Given the description of an element on the screen output the (x, y) to click on. 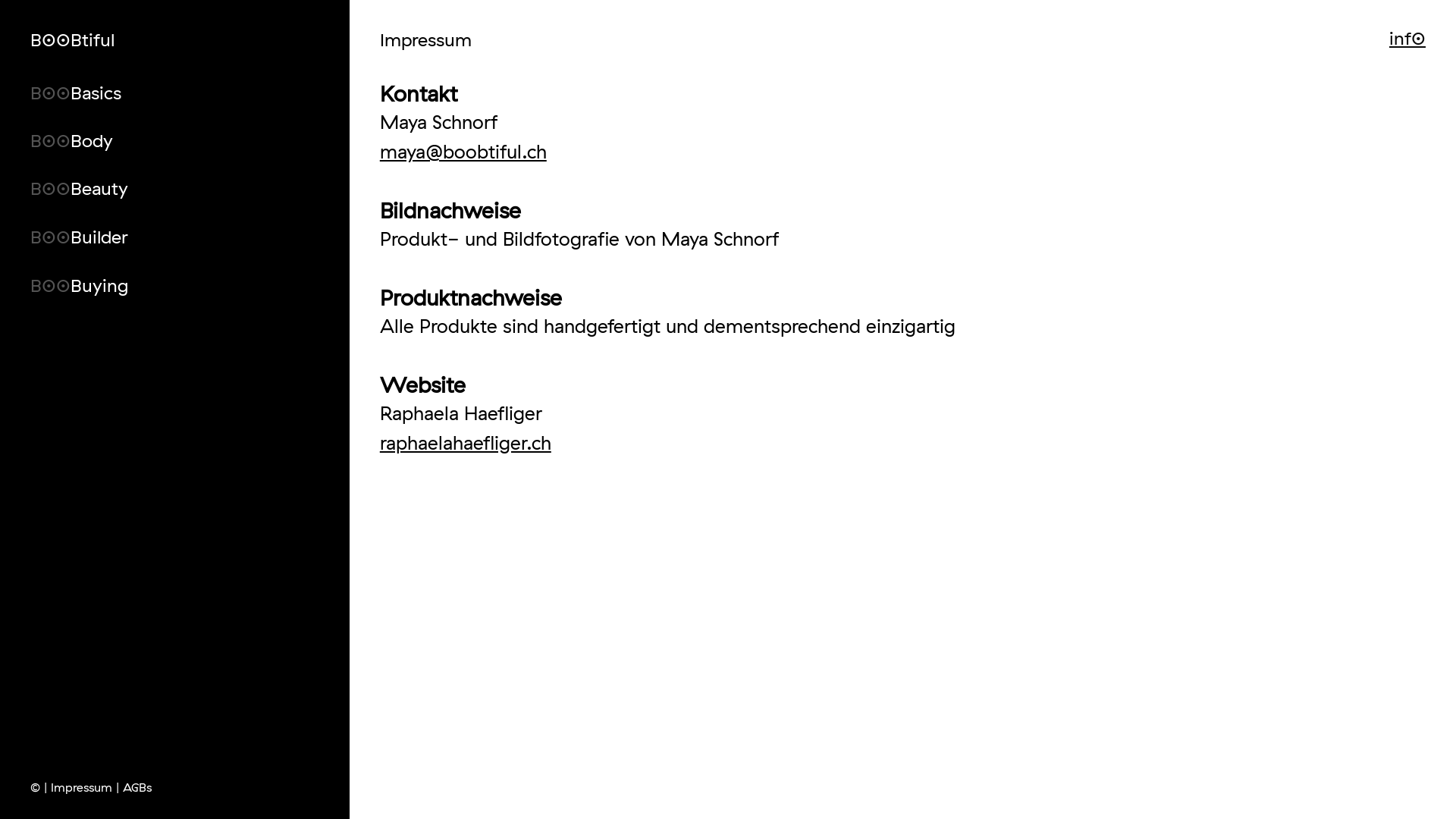
B00Body Element type: text (189, 136)
B00Builder Element type: text (189, 232)
B00Btiful Element type: text (72, 39)
Impressum | Element type: text (86, 783)
maya@boobtiful.ch Element type: text (462, 151)
B00Buying Element type: text (189, 281)
B00Beauty Element type: text (189, 184)
B00Basics Element type: text (189, 88)
inf0 Element type: text (1407, 37)
AGBs Element type: text (138, 783)
raphaelahaefliger.ch Element type: text (465, 442)
